Given the description of an element on the screen output the (x, y) to click on. 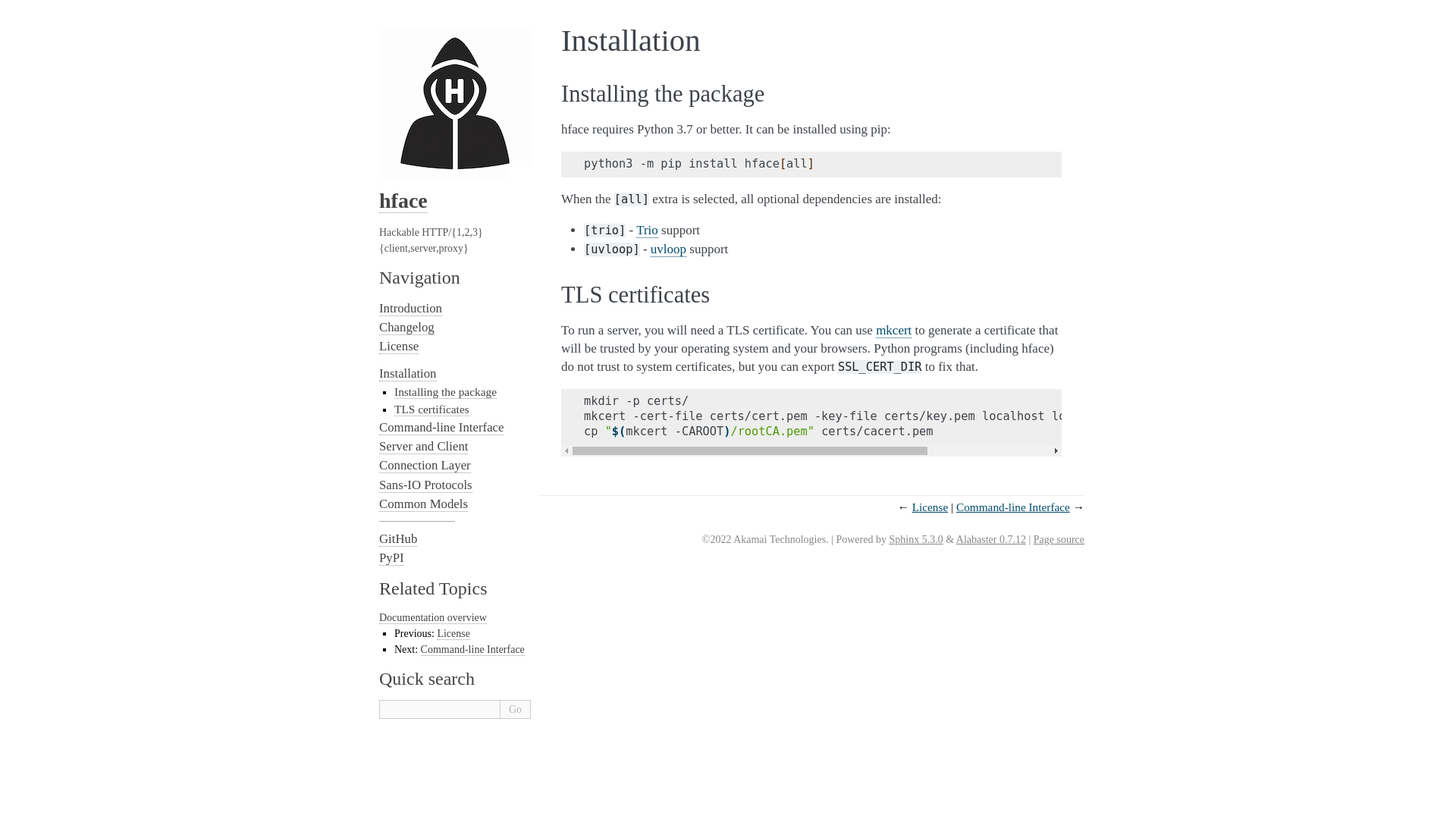
License (398, 346)
Connection Layer (424, 465)
Common Models (422, 503)
TLS certificates (431, 409)
hface (403, 200)
Command-line Interface (440, 427)
Command-line Interface (1013, 506)
mkcert (893, 330)
Previous document (930, 506)
uvloop (667, 249)
Introduction (410, 308)
Installation (407, 373)
License (930, 506)
Next document (1013, 506)
Changelog (405, 327)
